Given the description of an element on the screen output the (x, y) to click on. 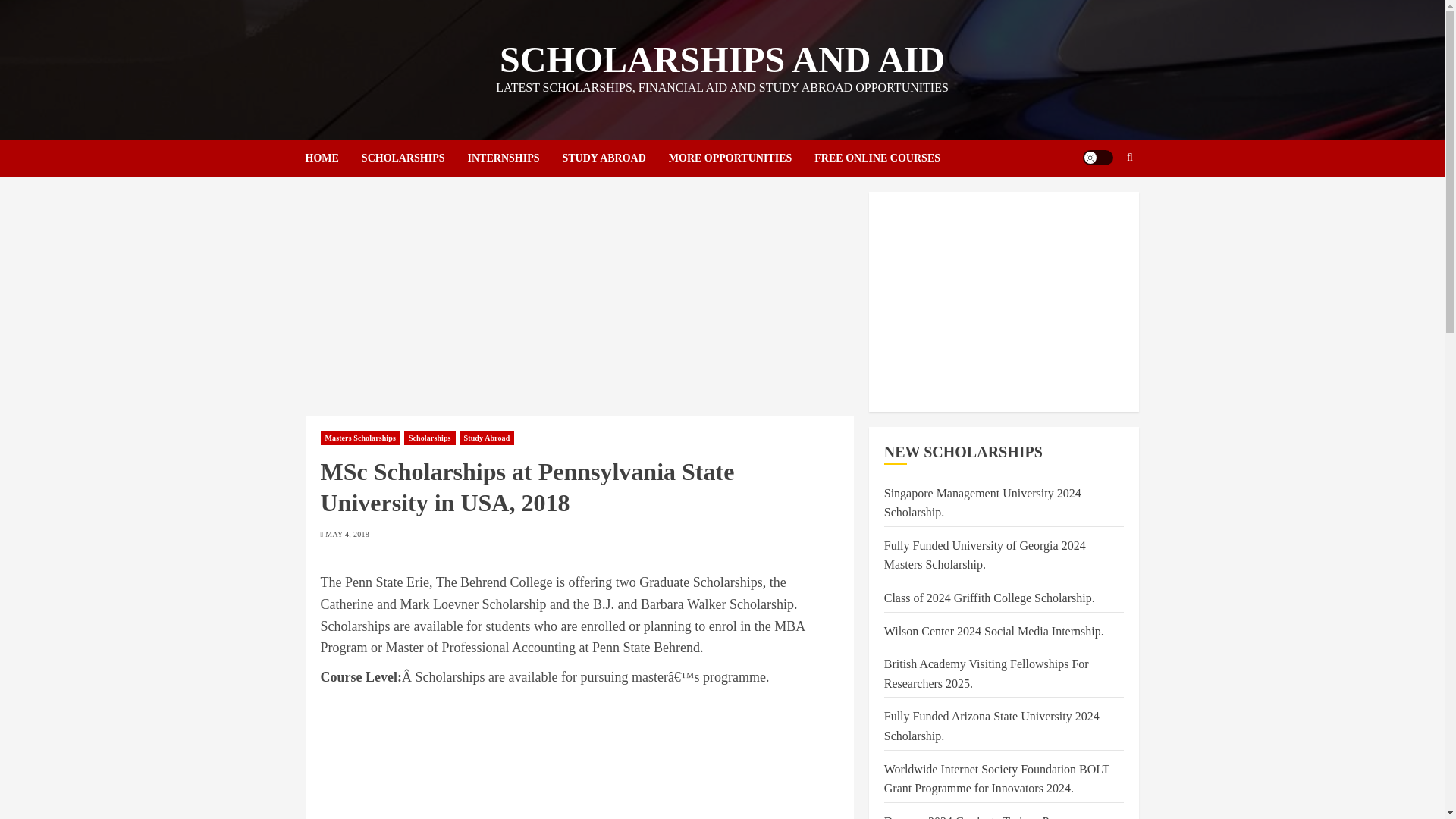
Study Abroad (487, 438)
SCHOLARSHIPS AND AID (721, 59)
Fully Funded Arizona State University 2024 Scholarship. (991, 726)
MAY 4, 2018 (346, 534)
Singapore Management University 2024 Scholarship. (982, 503)
Scholarships (429, 438)
STUDY ABROAD (615, 157)
Advertisement (1003, 301)
Class of 2024 Griffith College Scholarship. (988, 598)
INTERNSHIPS (514, 157)
SCHOLARSHIPS (414, 157)
Advertisement (579, 757)
Masters Scholarships (359, 438)
British Academy Visiting Fellowships For Researchers 2025. (986, 674)
